Given the description of an element on the screen output the (x, y) to click on. 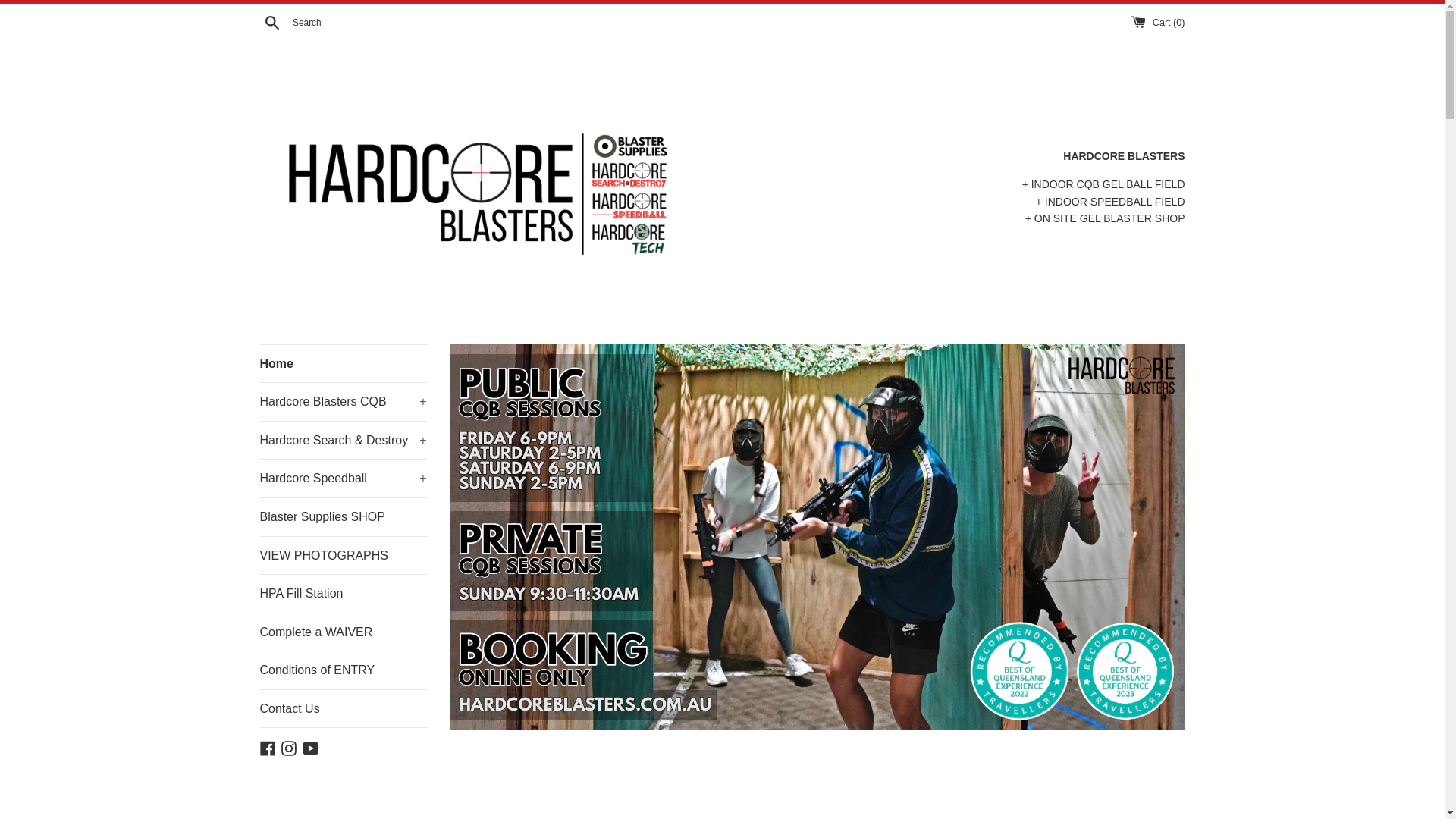
Facebook Element type: text (266, 746)
Cart (0) Element type: text (1157, 21)
Hardcore Speedball
+ Element type: text (342, 478)
Hardcore Blasters CQB
+ Element type: text (342, 401)
Conditions of ENTRY Element type: text (342, 670)
Instagram Element type: text (288, 746)
Contact Us Element type: text (342, 709)
Hardcore Search & Destroy
+ Element type: text (342, 440)
HPA Fill Station Element type: text (342, 593)
YouTube Element type: text (310, 746)
Search Element type: text (271, 21)
Complete a WAIVER Element type: text (342, 632)
Home Element type: text (342, 363)
VIEW PHOTOGRAPHS Element type: text (342, 555)
Blaster Supplies SHOP Element type: text (342, 517)
